Given the description of an element on the screen output the (x, y) to click on. 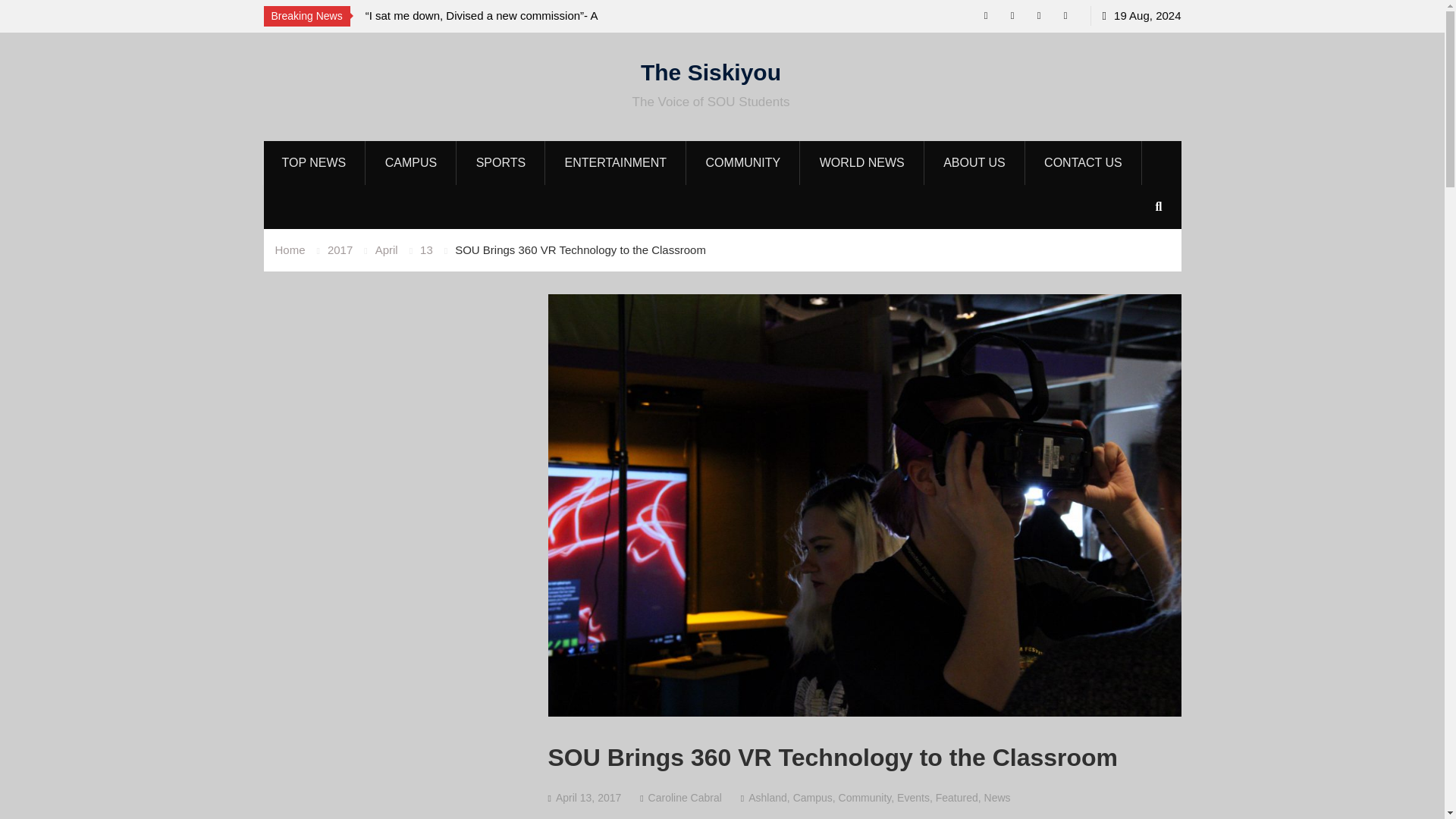
April (386, 249)
2017 (339, 249)
The Siskiyou (710, 71)
WORLD NEWS (862, 162)
ENTERTAINMENT (616, 162)
Facebook (1065, 15)
ABOUT US (974, 162)
CAMPUS (411, 162)
TOP NEWS (314, 162)
13 (426, 249)
